Given the description of an element on the screen output the (x, y) to click on. 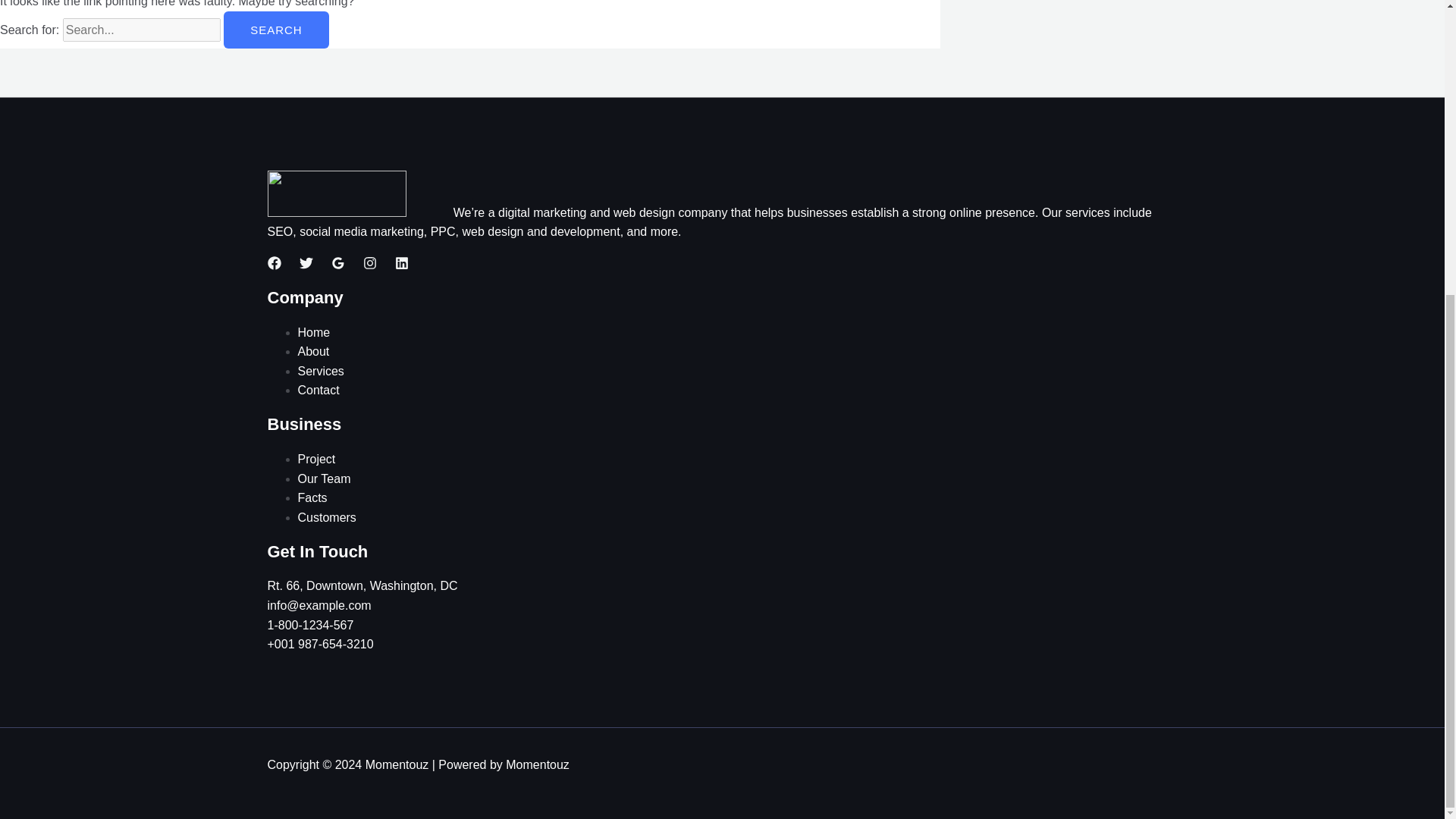
Search (276, 29)
Search (276, 29)
About (313, 350)
Our Team (323, 478)
Search (276, 29)
Google Reviews (336, 265)
Home (313, 332)
Contact (318, 390)
Customers (326, 517)
Project (315, 459)
Services (320, 370)
Google Reviews (336, 263)
Facts (311, 497)
